Given the description of an element on the screen output the (x, y) to click on. 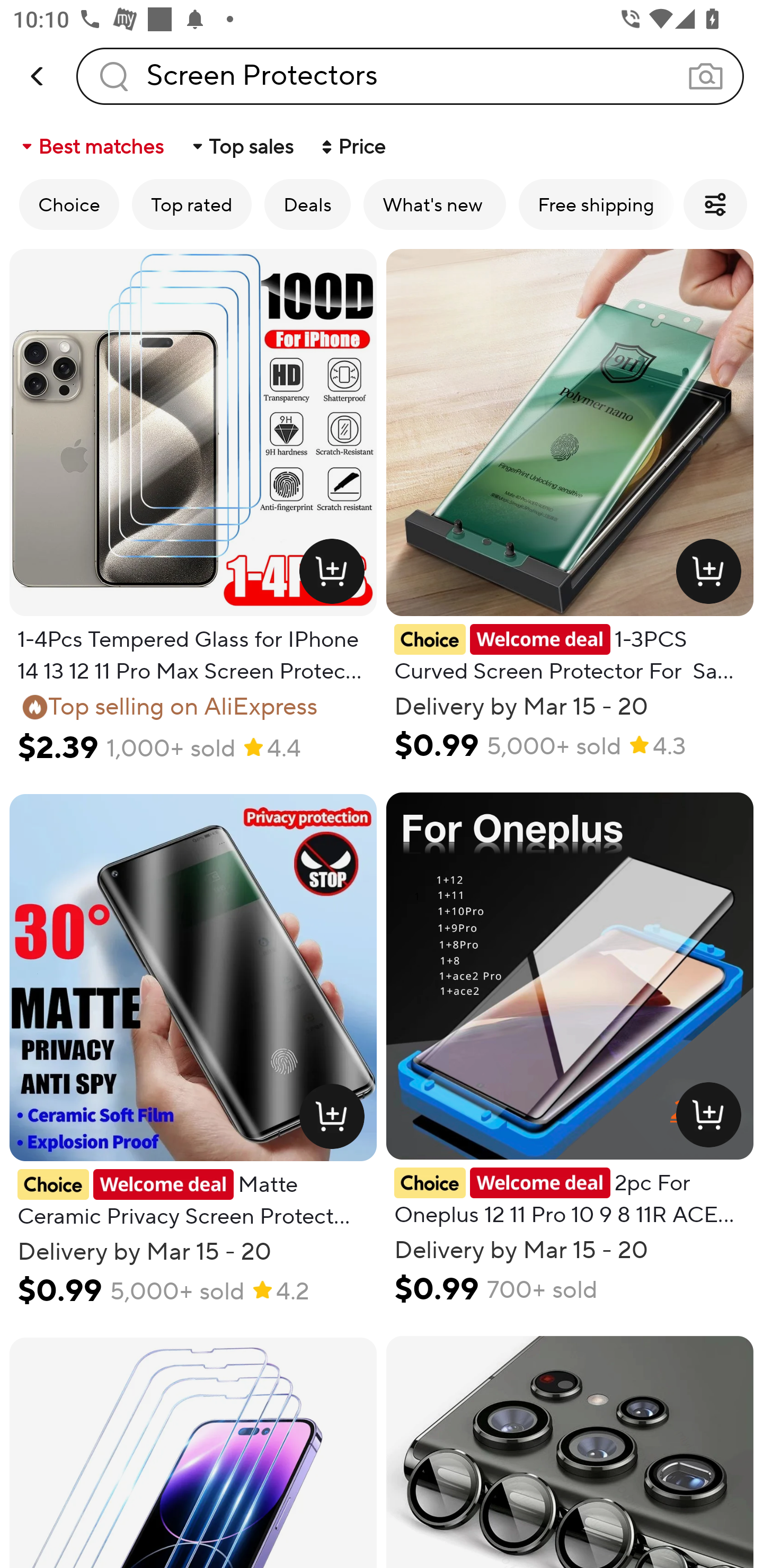
back (38, 75)
Screen Protectors Search query (409, 76)
Screen Protectors Search query (409, 76)
Best matches (91, 146)
Top sales (241, 146)
Price (352, 146)
Choice (69, 204)
Top rated (191, 204)
Deals (307, 204)
What's new  (434, 204)
Free shipping (595, 204)
